Given the description of an element on the screen output the (x, y) to click on. 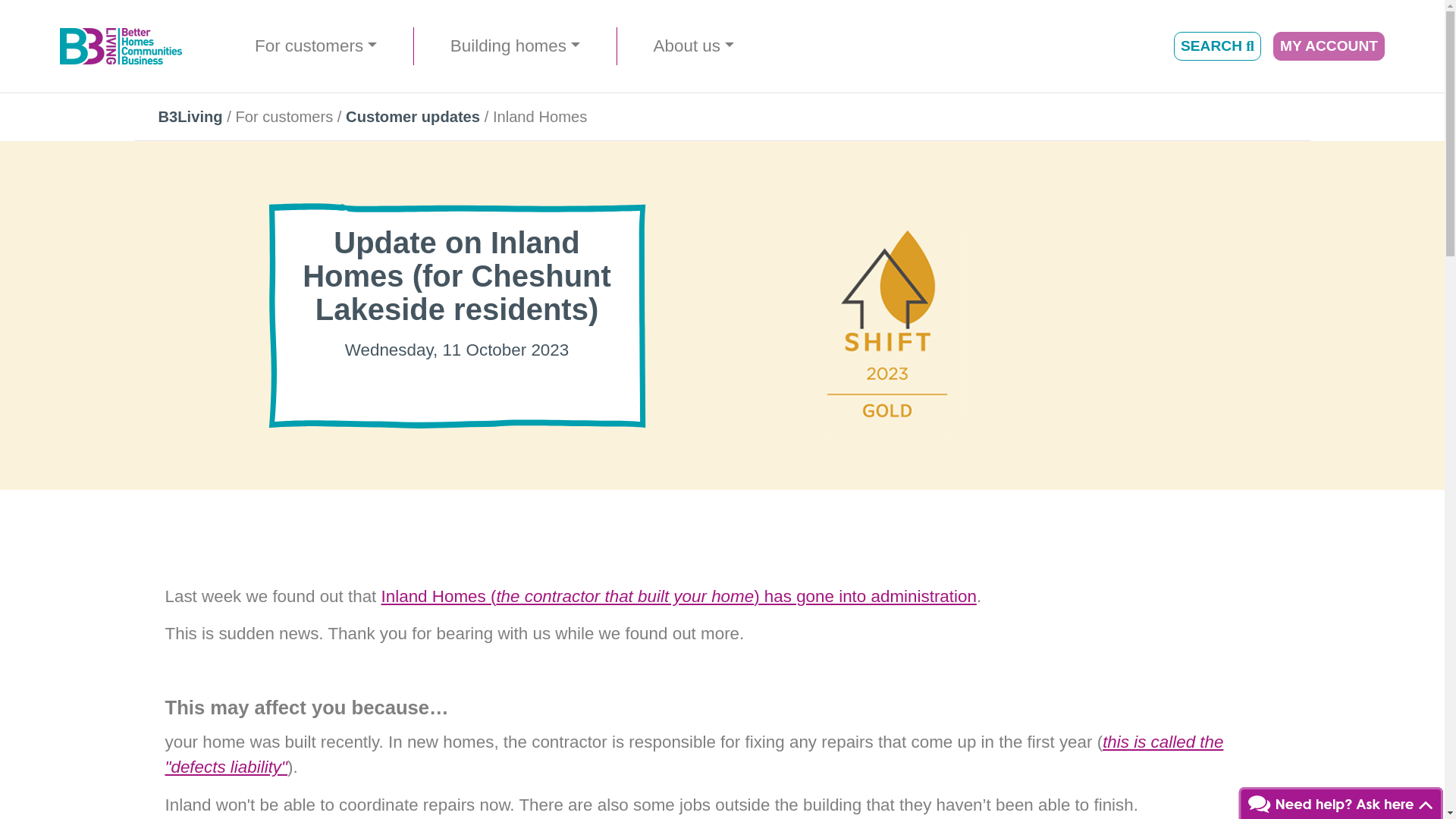
For customers (321, 46)
B3 Living (120, 45)
